Given the description of an element on the screen output the (x, y) to click on. 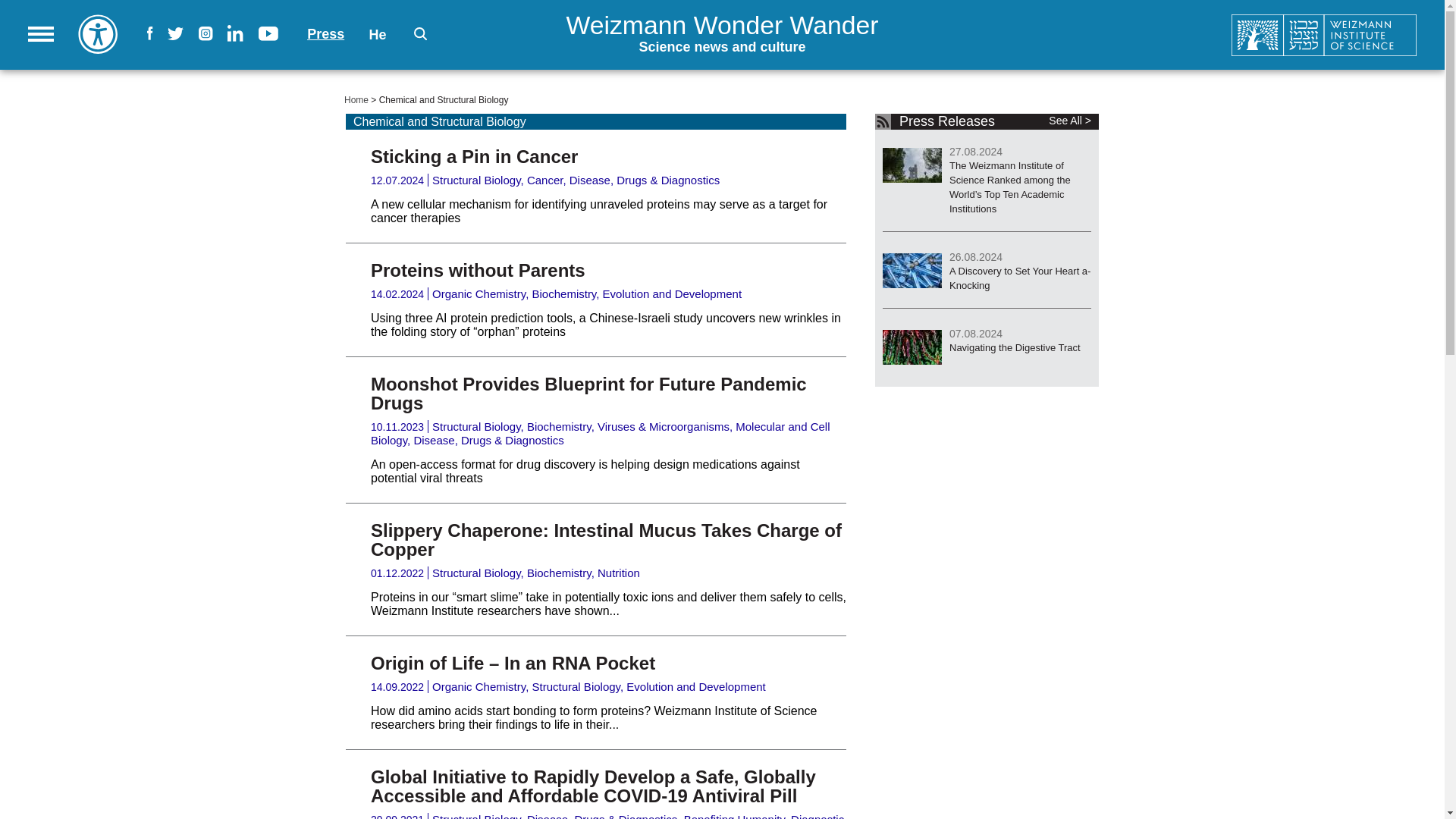
Accessibility (97, 33)
Sticking a Pin in Cancer  (474, 156)
Press (721, 35)
Menu (325, 33)
Slippery Chaperone: Intestinal Mucus Takes Charge of Copper  (40, 32)
Proteins without Parents  (606, 539)
He (478, 270)
Weizmann Institute of Science Homepage (378, 34)
Weizmann Wonder Wander Homepage (1215, 34)
